Given the description of an element on the screen output the (x, y) to click on. 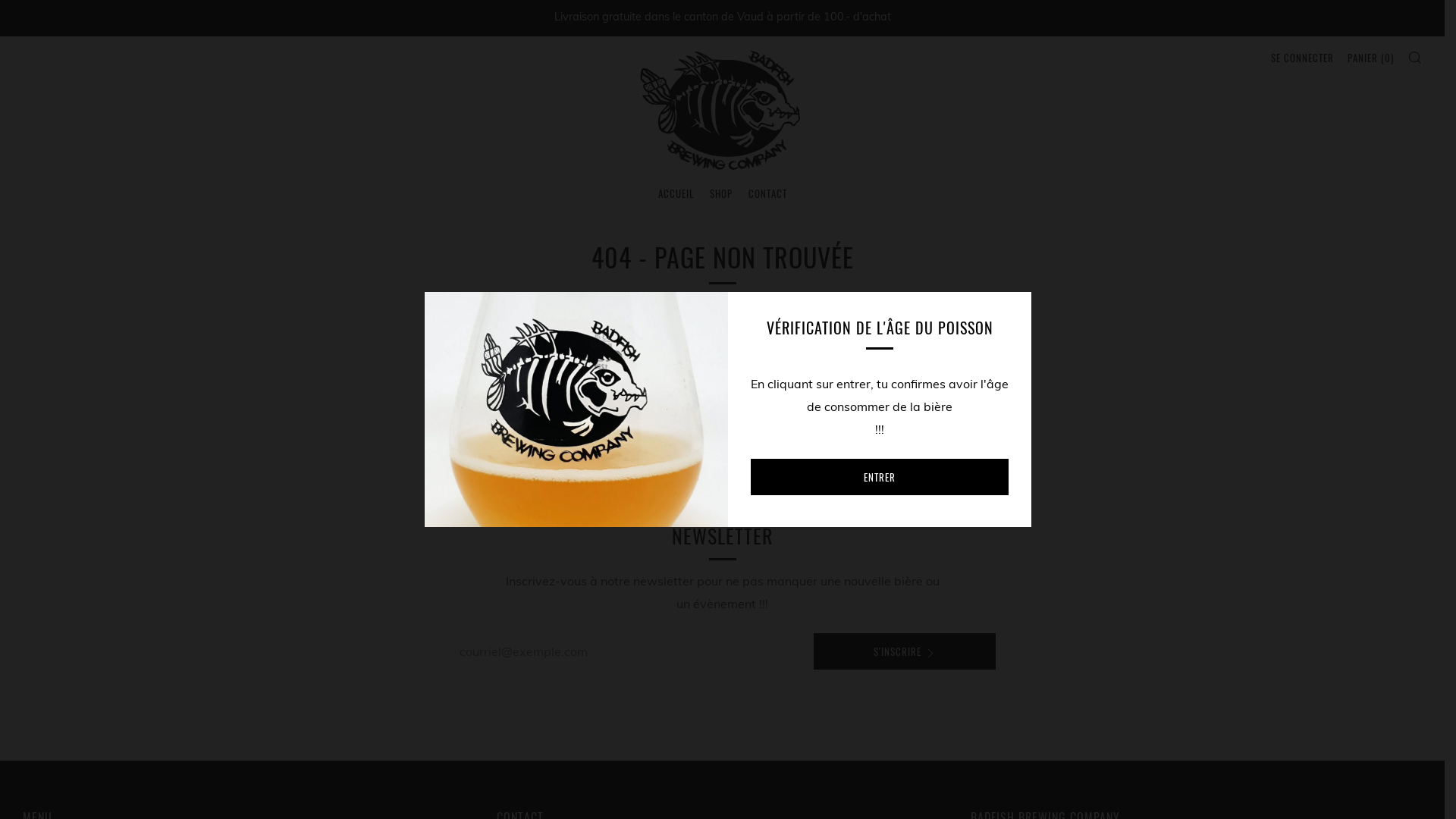
SE CONNECTER Element type: text (1301, 57)
CONTINUER VOS ACHATS Element type: text (722, 455)
S'INSCRIRE Element type: text (903, 651)
ACCUEIL Element type: text (675, 192)
SHOP Element type: text (720, 192)
PANIER (0) Element type: text (1370, 57)
ENTRER Element type: text (879, 476)
RECHERCHE Element type: text (1414, 56)
CONTACT Element type: text (766, 192)
